Given the description of an element on the screen output the (x, y) to click on. 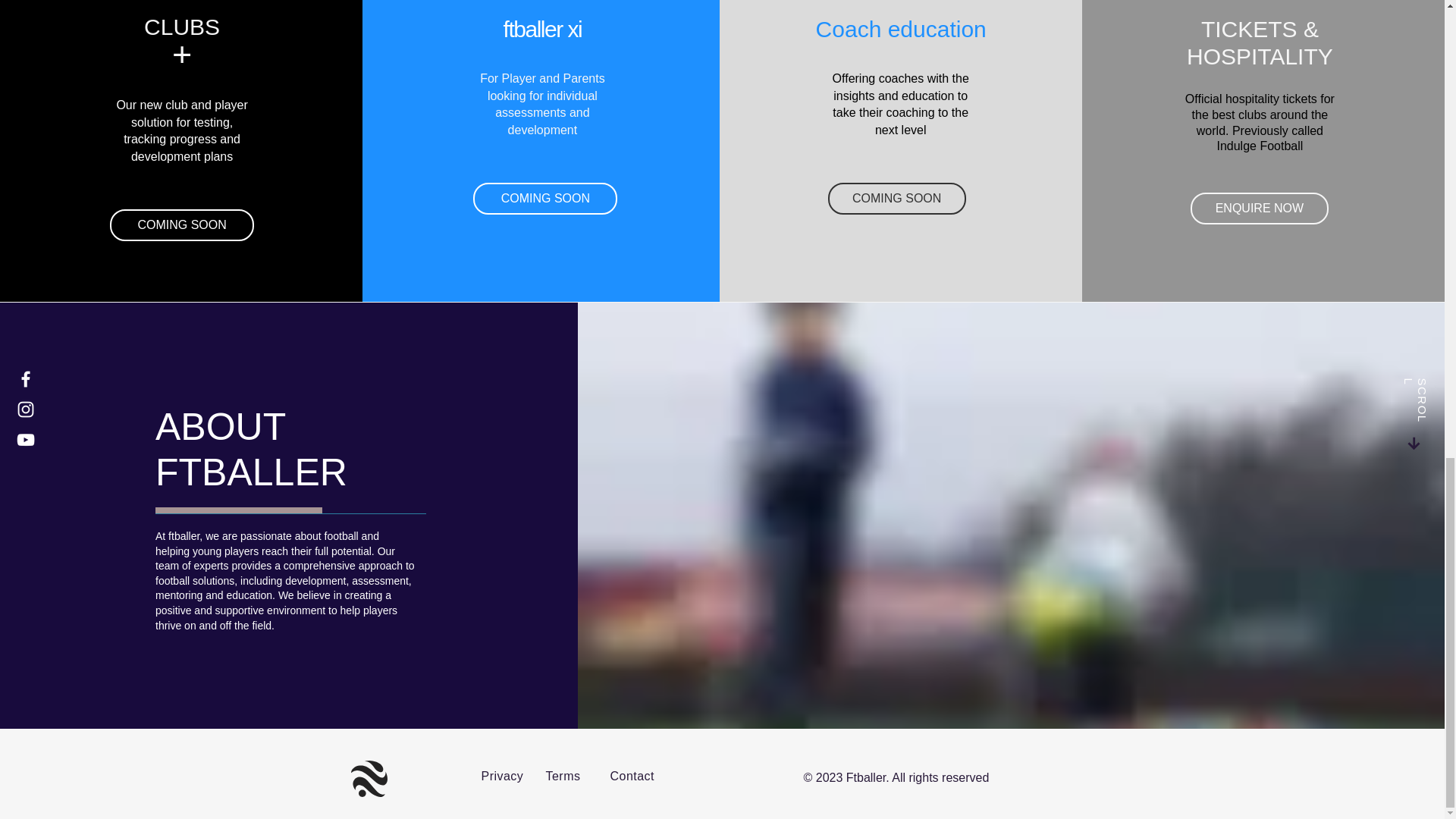
Terms (563, 775)
ENQUIRE NOW (1259, 208)
Contact (631, 775)
Privacy (501, 775)
